Given the description of an element on the screen output the (x, y) to click on. 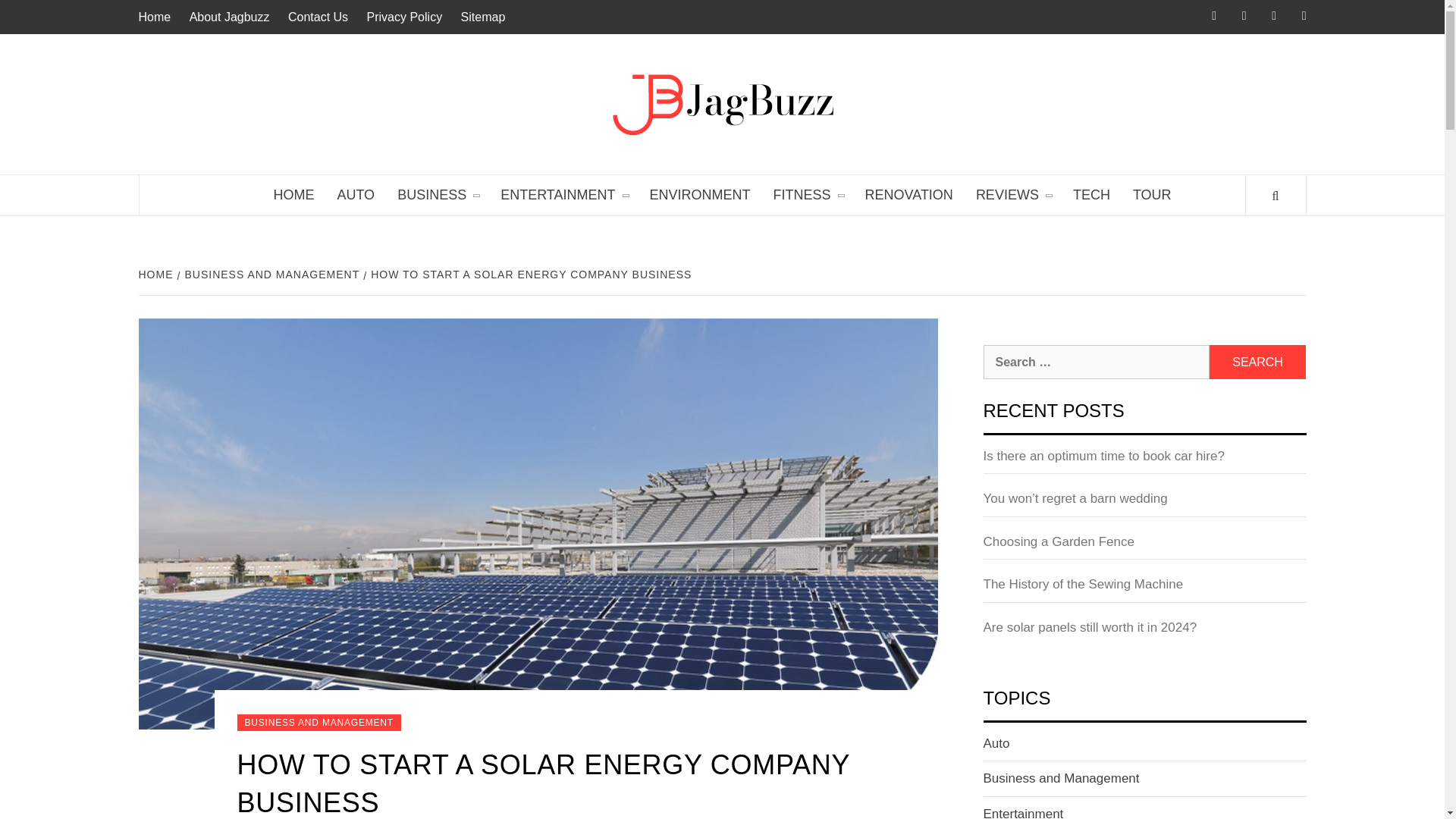
Search (1257, 361)
About Jagbuzz (230, 17)
Sitemap (482, 17)
TOUR (1151, 195)
twitter (1262, 17)
TECH (1091, 195)
facebook (1202, 17)
Privacy Policy (404, 17)
Contact Us (318, 17)
instagram (1233, 17)
JAGBUZZ.COM (969, 95)
ENTERTAINMENT (563, 195)
Search (1257, 361)
BUSINESS AND MANAGEMENT (270, 274)
REVIEWS (1012, 195)
